Given the description of an element on the screen output the (x, y) to click on. 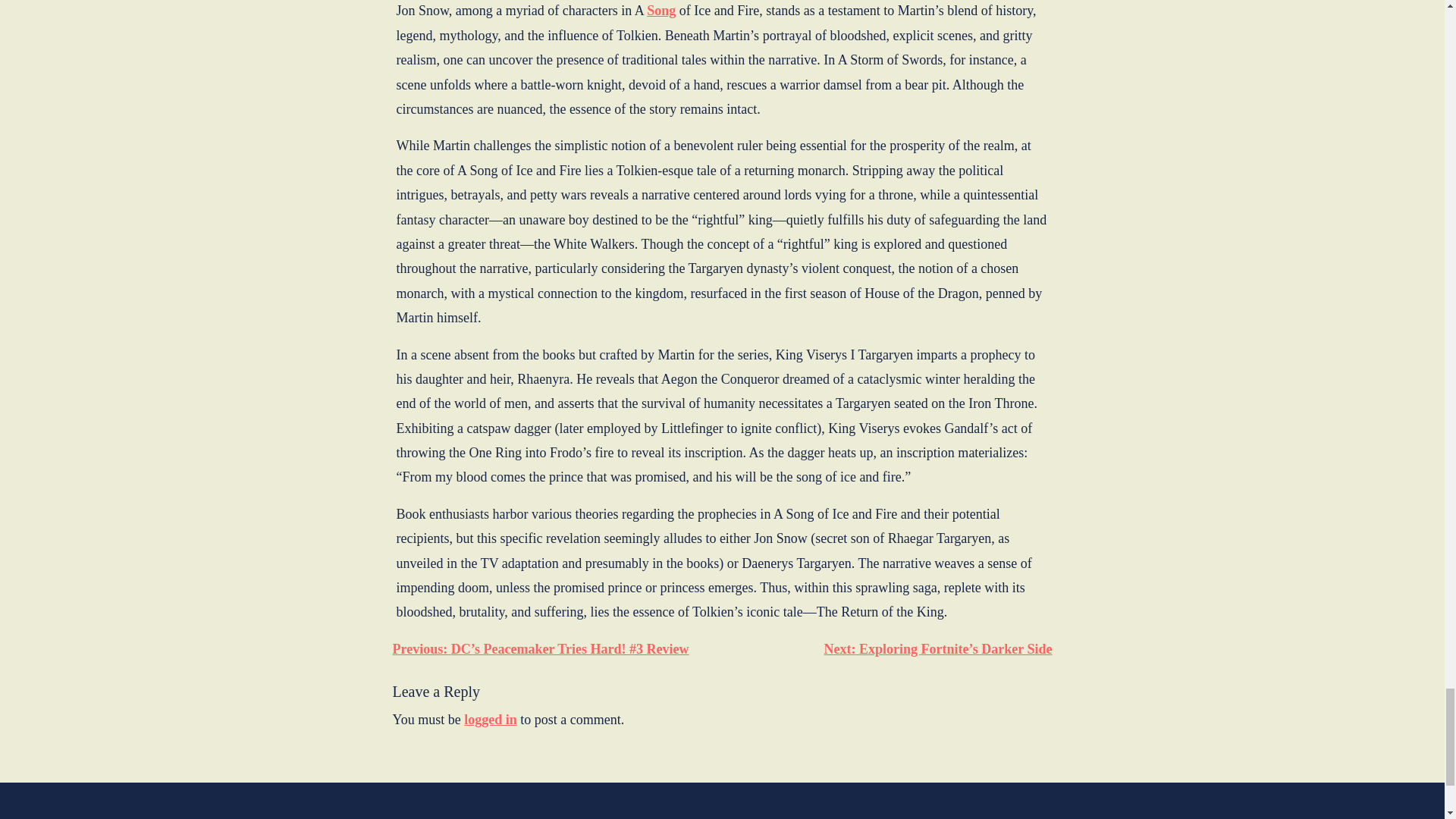
logged in (490, 719)
Song (660, 11)
